Given the description of an element on the screen output the (x, y) to click on. 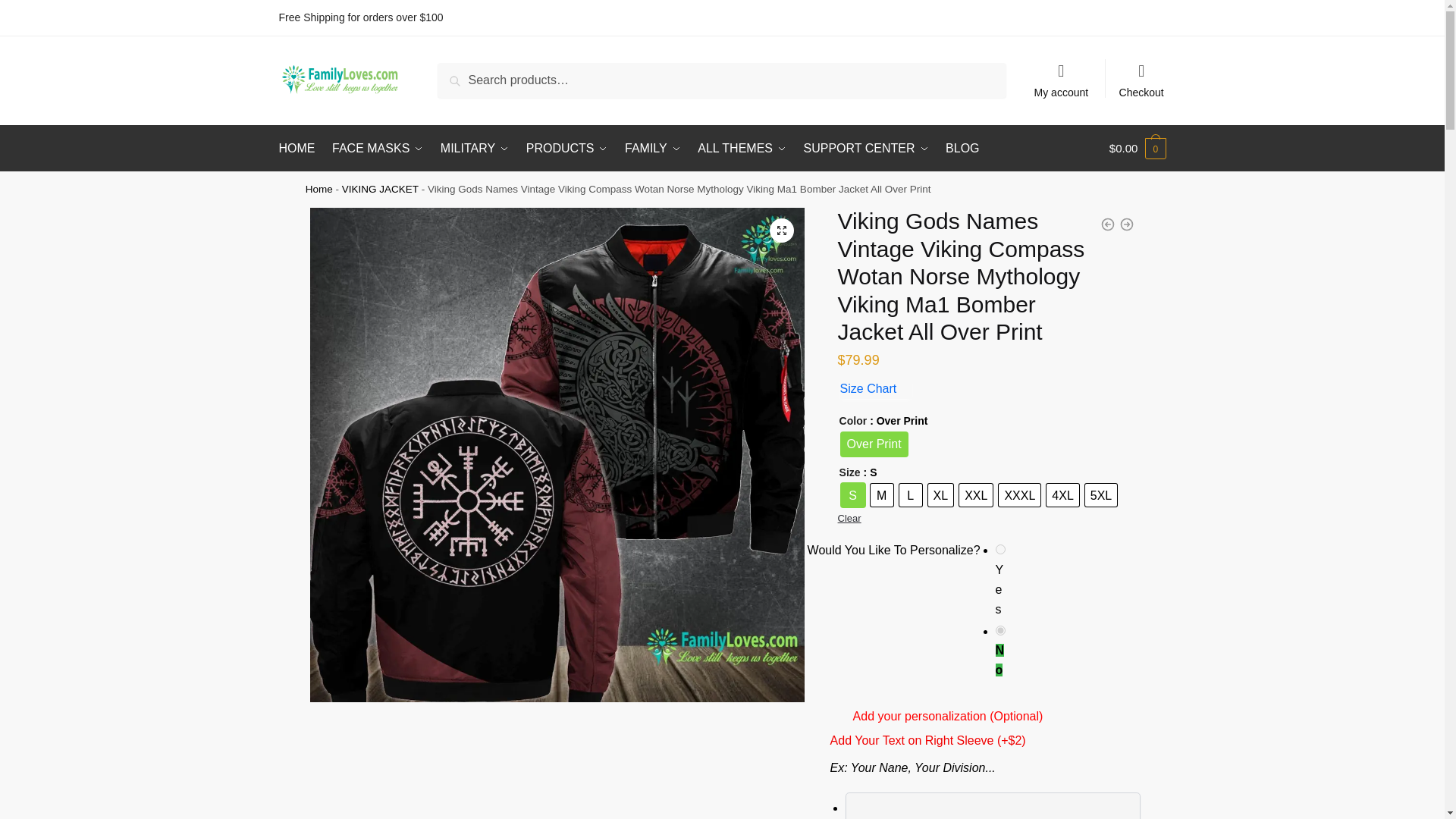
XL (940, 495)
M (881, 495)
L (910, 495)
View your shopping cart (1137, 148)
5XL (1100, 495)
HOME (300, 148)
XXL (975, 495)
S (852, 495)
My account (1061, 73)
Search (461, 73)
Skip to content (40, 9)
XXXL (1019, 495)
MILITARY (474, 148)
4XL (1062, 495)
